Given the description of an element on the screen output the (x, y) to click on. 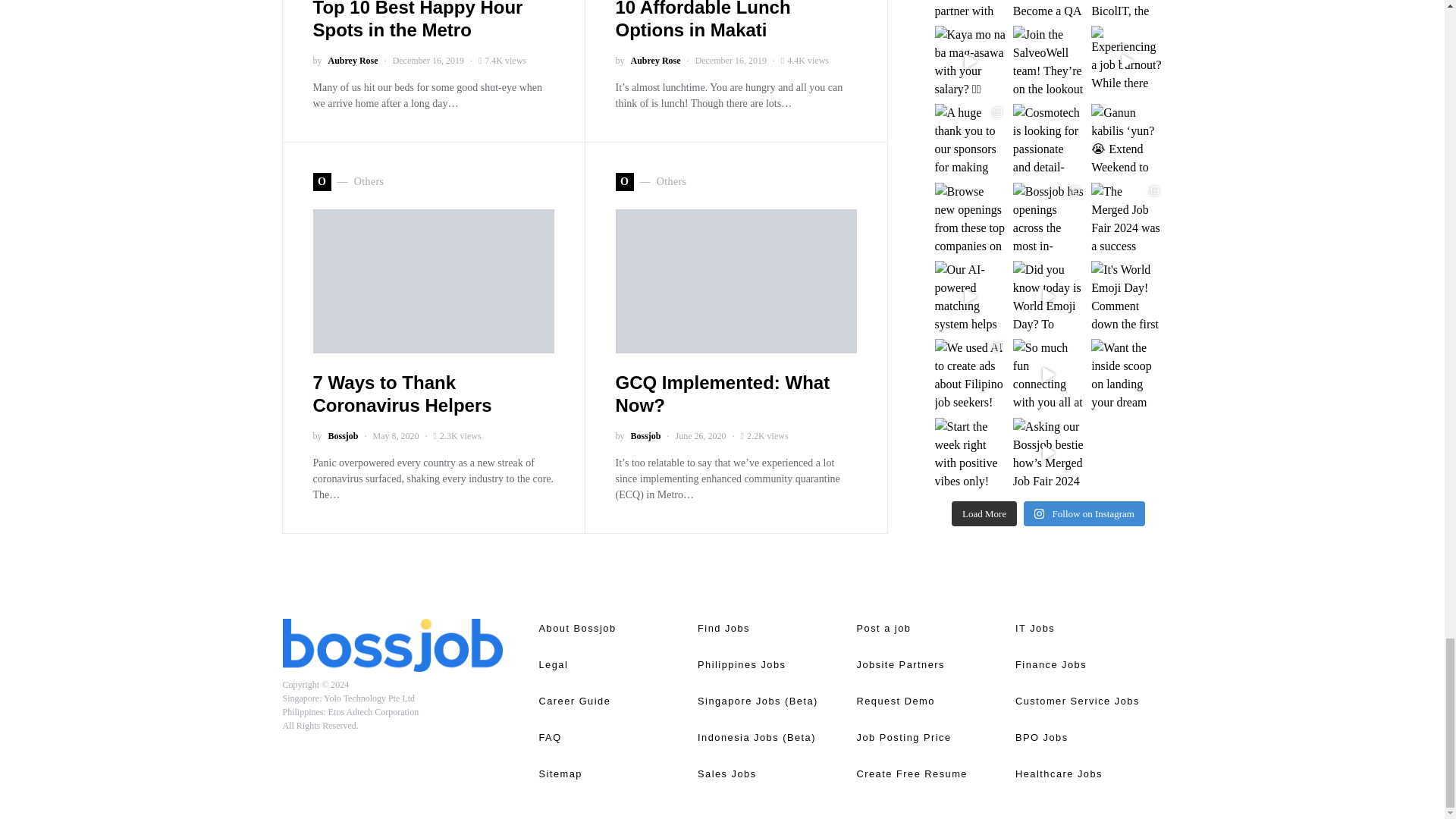
View all posts by Bossjob (645, 436)
View all posts by Aubrey Rose (352, 60)
View all posts by Bossjob (342, 436)
View all posts by Aubrey Rose (655, 60)
